Given the description of an element on the screen output the (x, y) to click on. 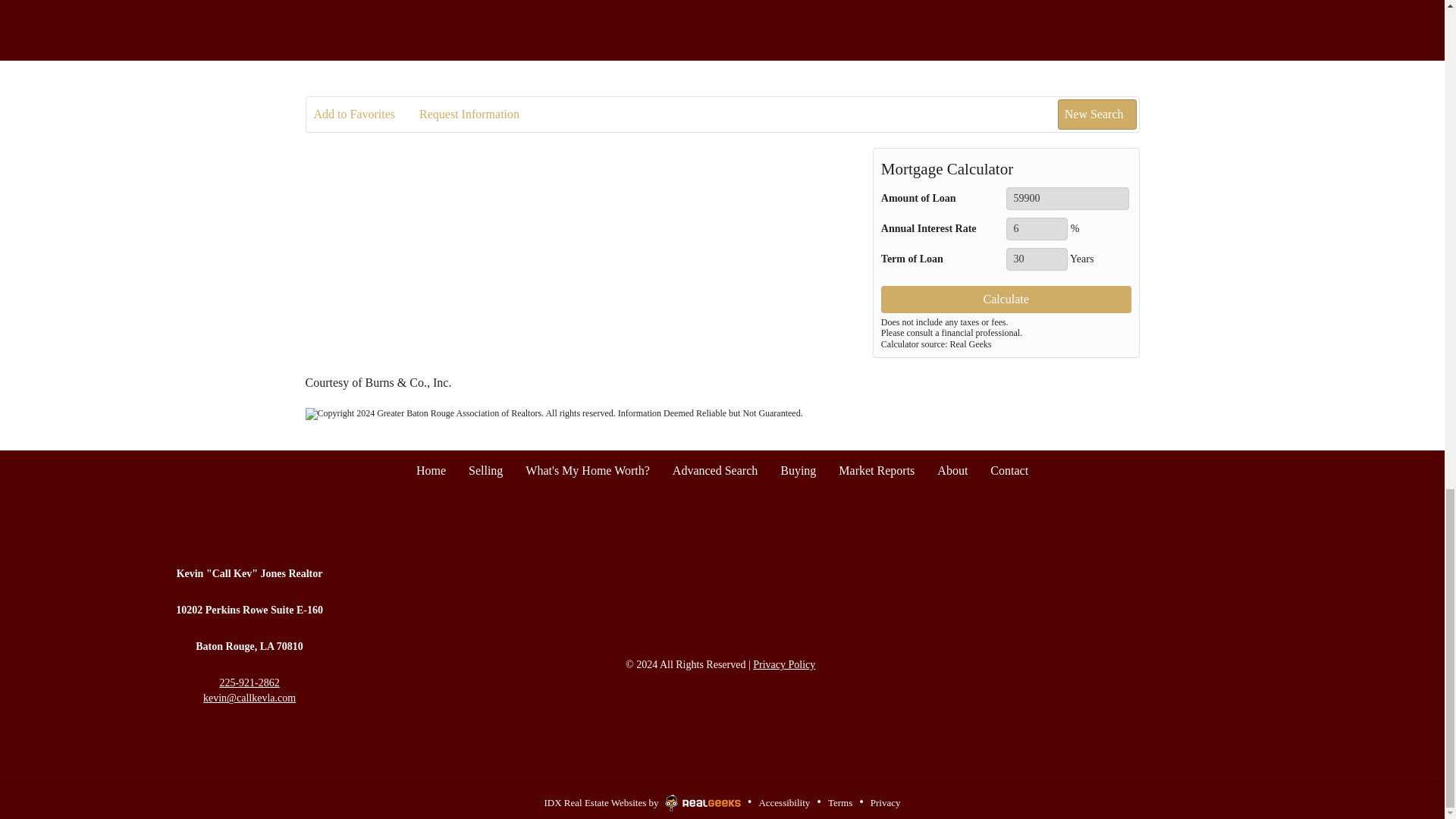
59900 (1067, 198)
30 (1036, 259)
6 (1036, 228)
